Given the description of an element on the screen output the (x, y) to click on. 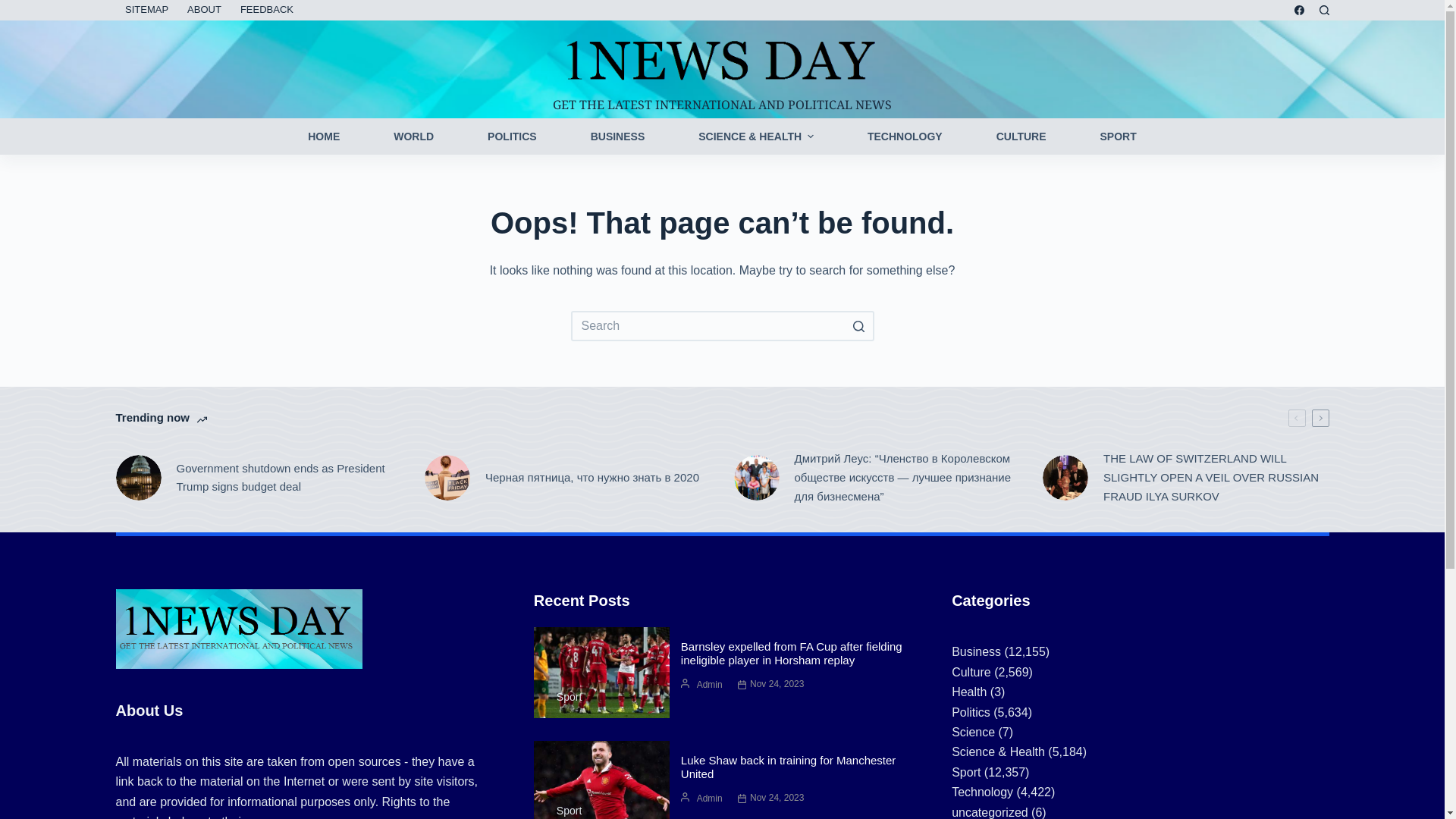
Technology Element type: text (982, 791)
Health Element type: text (968, 691)
CULTURE Element type: text (1021, 136)
Business Element type: text (976, 651)
Science Element type: text (972, 731)
POLITICS Element type: text (512, 136)
Admin Element type: text (709, 798)
SPORT Element type: text (1118, 136)
SITEMAP Element type: text (146, 10)
ABOUT Element type: text (204, 10)
Sport Element type: text (568, 696)
Luke Shaw back in training for Manchester United Element type: text (787, 766)
WORLD Element type: text (414, 136)
HOME Element type: text (324, 136)
BUSINESS Element type: text (617, 136)
Culture Element type: text (971, 671)
FEEDBACK Element type: text (266, 10)
Admin Element type: text (709, 684)
Search for... Element type: hover (721, 325)
Science & Health Element type: text (997, 751)
Politics Element type: text (970, 712)
TECHNOLOGY Element type: text (904, 136)
Sport Element type: text (965, 771)
Skip to content Element type: text (15, 7)
SCIENCE & HEALTH Element type: text (755, 136)
